Given the description of an element on the screen output the (x, y) to click on. 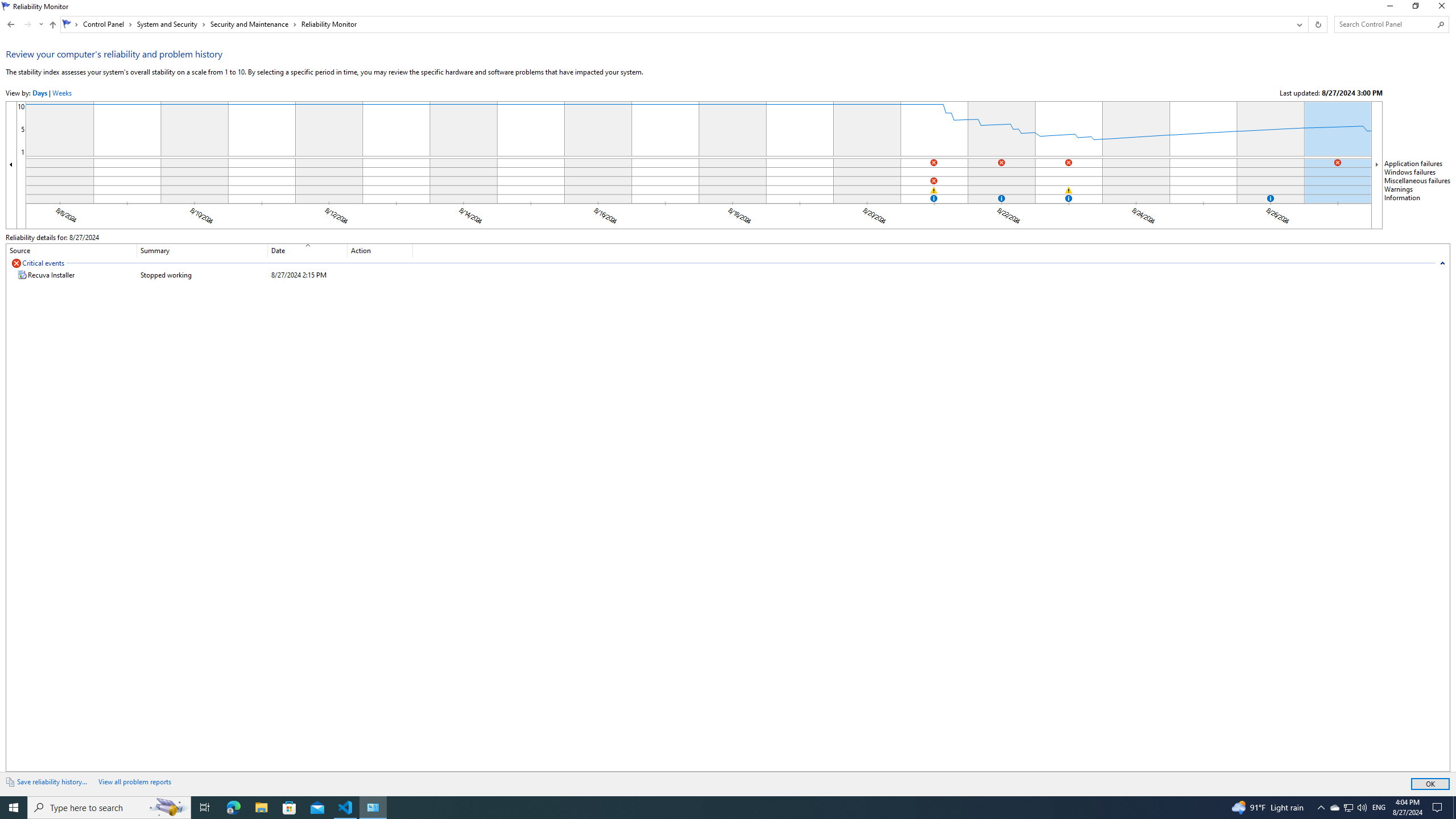
Control Panel - 1 running window (373, 807)
Address band toolbar (1308, 23)
Running applications (706, 807)
Recuva Installer (209, 274)
Recent locations (40, 23)
All locations (70, 23)
Forward (Alt + Right Arrow) (27, 23)
Restore (1415, 8)
Previous Locations (1298, 23)
ViewByDays (39, 92)
System and Security (171, 23)
